Given the description of an element on the screen output the (x, y) to click on. 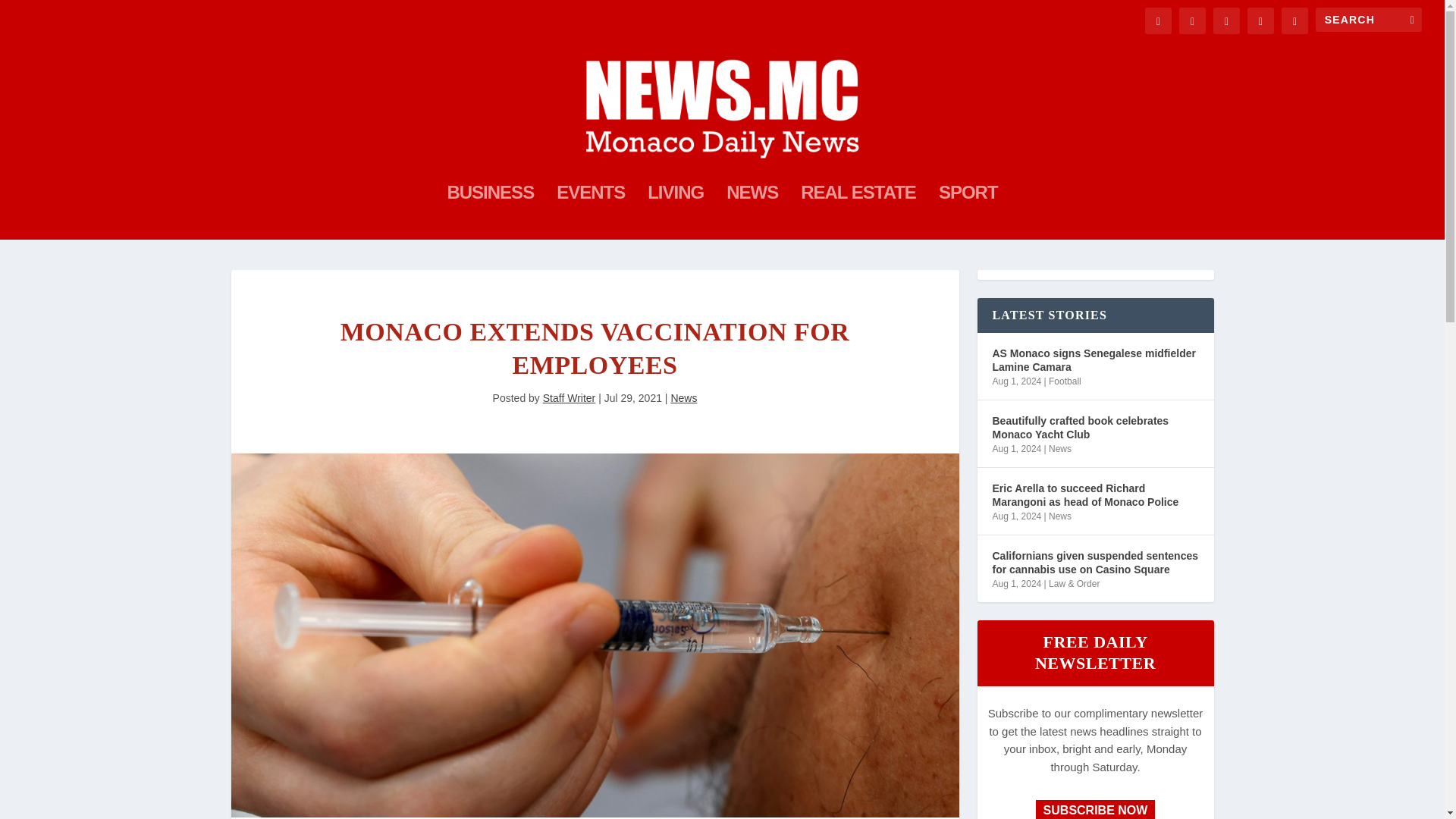
BUSINESS (490, 212)
News (683, 398)
Search for: (1369, 19)
Posts by Staff Writer (569, 398)
LIVING (675, 212)
EVENTS (590, 212)
Football (1064, 380)
REAL ESTATE (857, 212)
SPORT (968, 212)
AS Monaco signs Senegalese midfielder Lamine Camara (1094, 359)
NEWS (751, 212)
Staff Writer (569, 398)
